Given the description of an element on the screen output the (x, y) to click on. 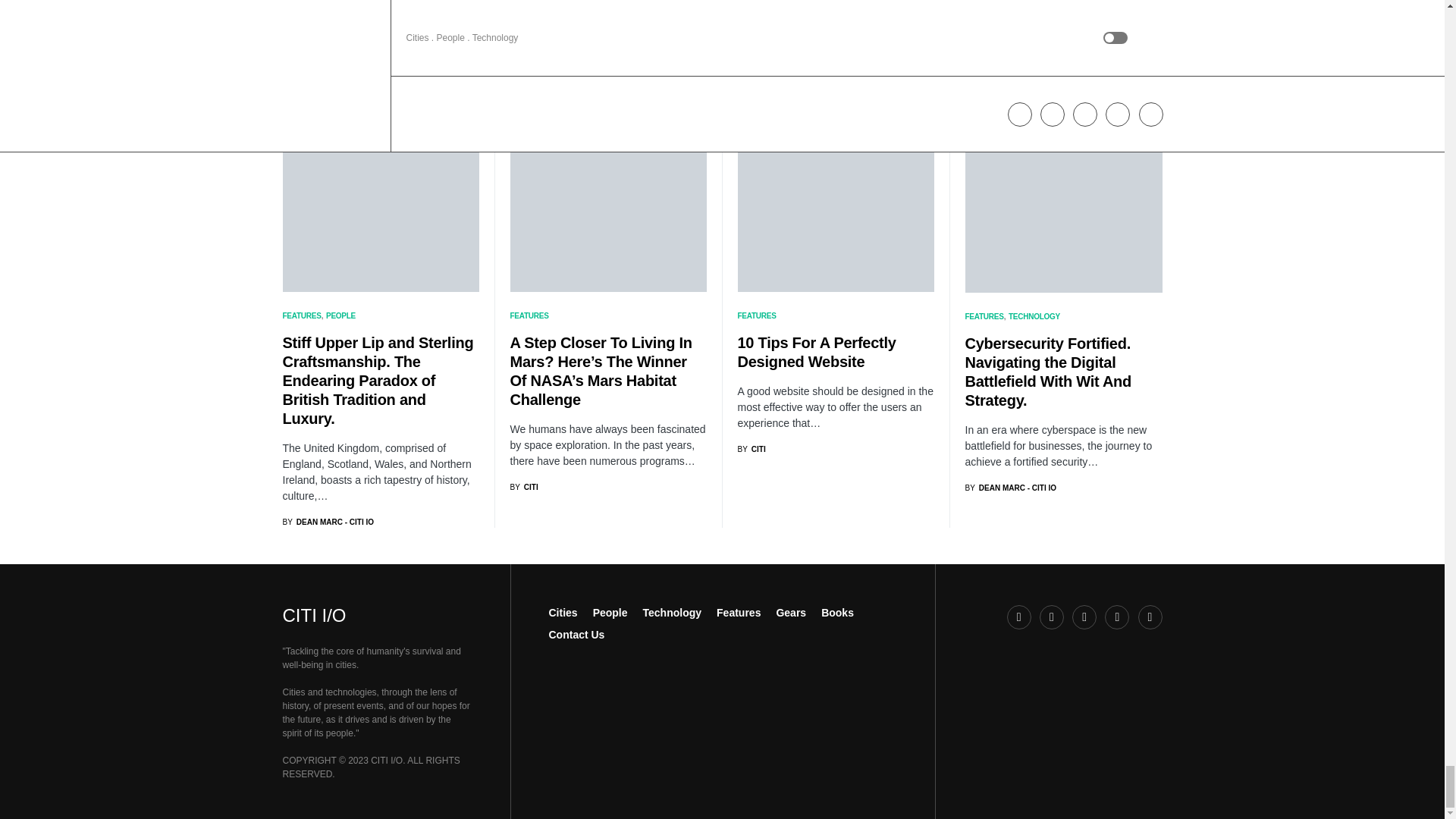
View all posts by Dean Marc - Citi IO (328, 521)
View all posts by citi (523, 487)
View all posts by citi (750, 449)
View all posts by Dean Marc - Citi IO (1010, 487)
